Given the description of an element on the screen output the (x, y) to click on. 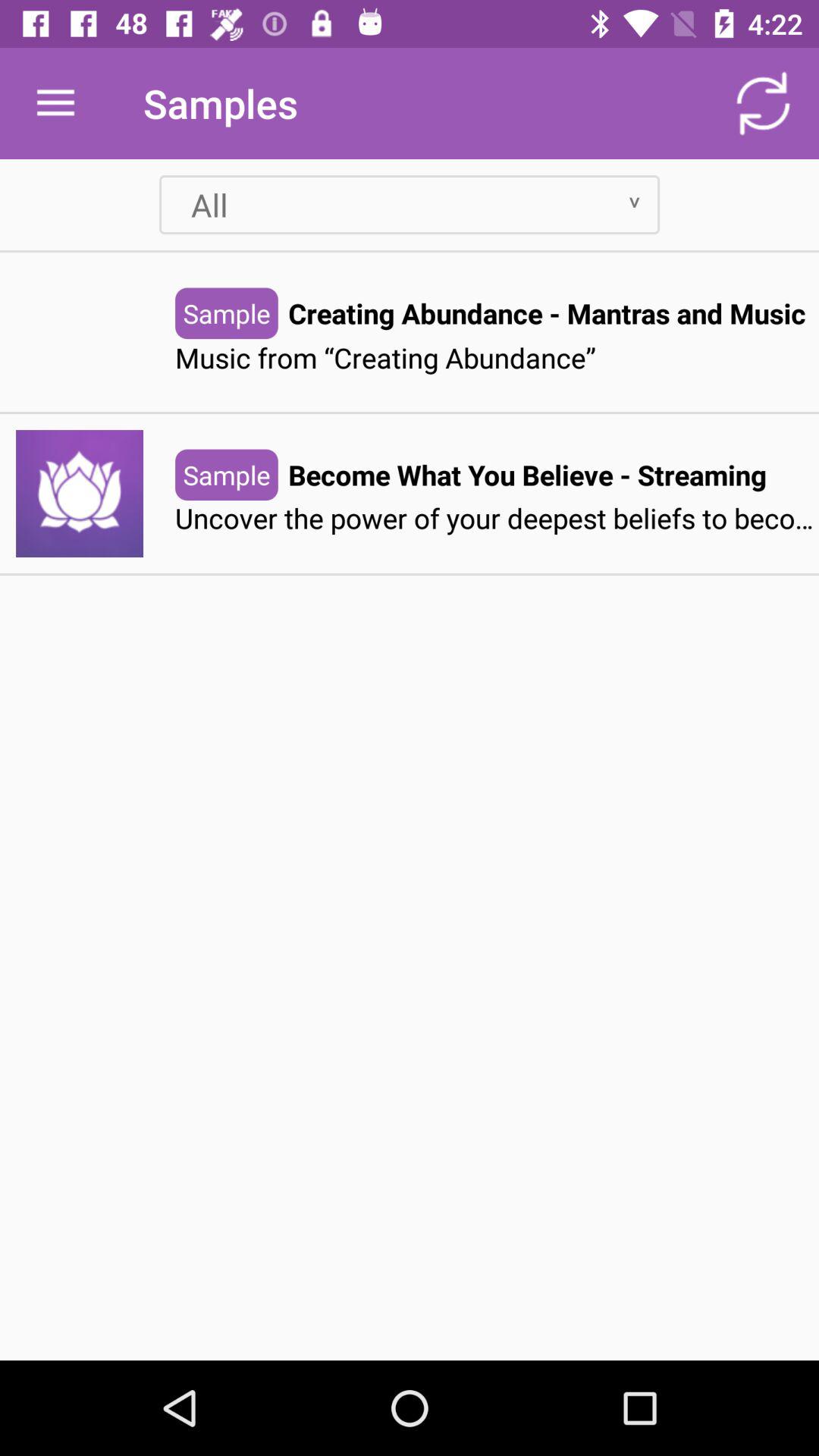
click the icon above the uncover the power icon (527, 474)
